Given the description of an element on the screen output the (x, y) to click on. 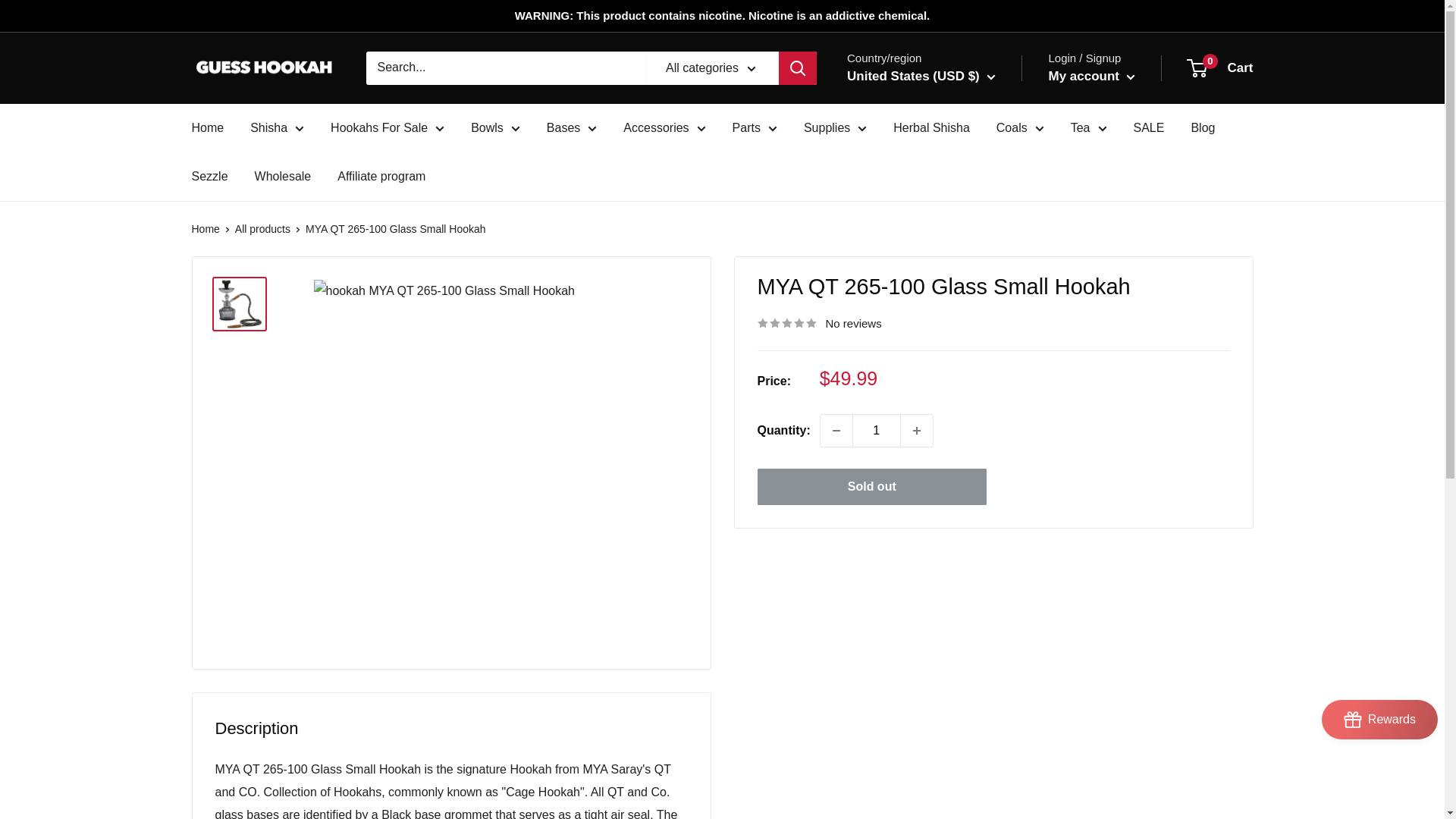
Increase quantity by 1 (917, 430)
Decrease quantity by 1 (836, 430)
1 (876, 430)
